Given the description of an element on the screen output the (x, y) to click on. 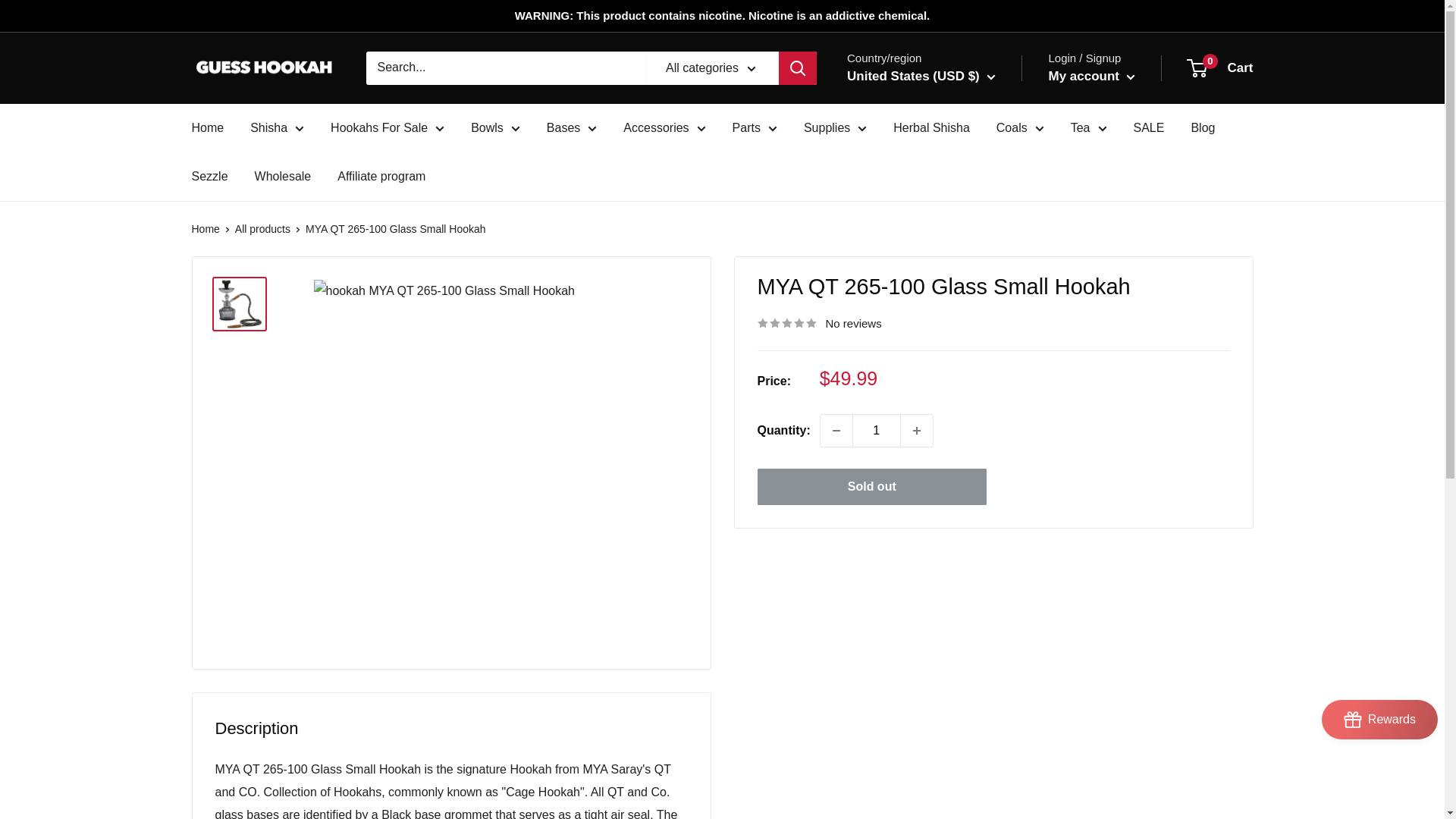
Increase quantity by 1 (917, 430)
Decrease quantity by 1 (836, 430)
1 (876, 430)
